Given the description of an element on the screen output the (x, y) to click on. 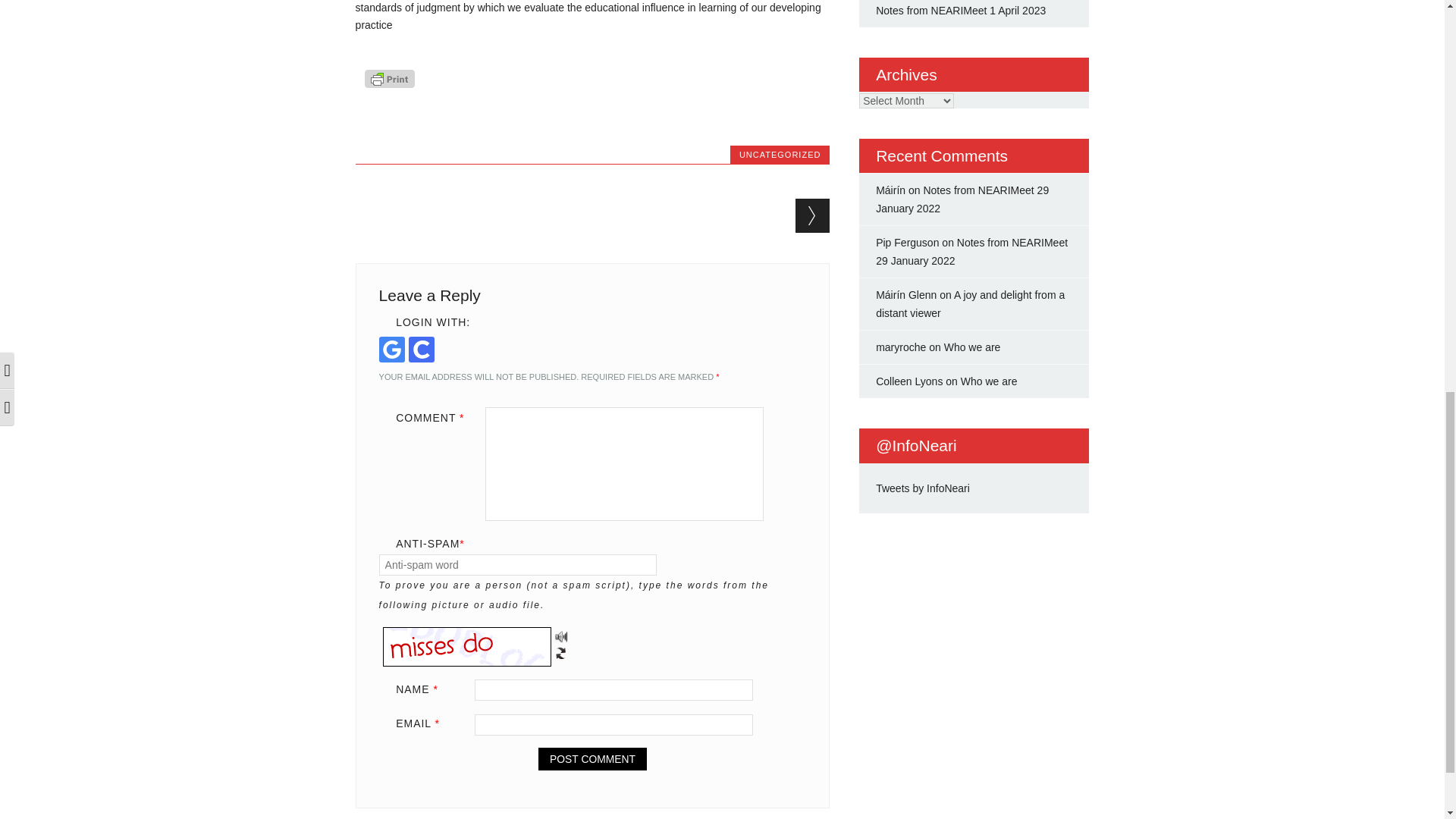
Continue with Google (391, 349)
Post Comment (592, 758)
Continue with Clever (421, 349)
